Given the description of an element on the screen output the (x, y) to click on. 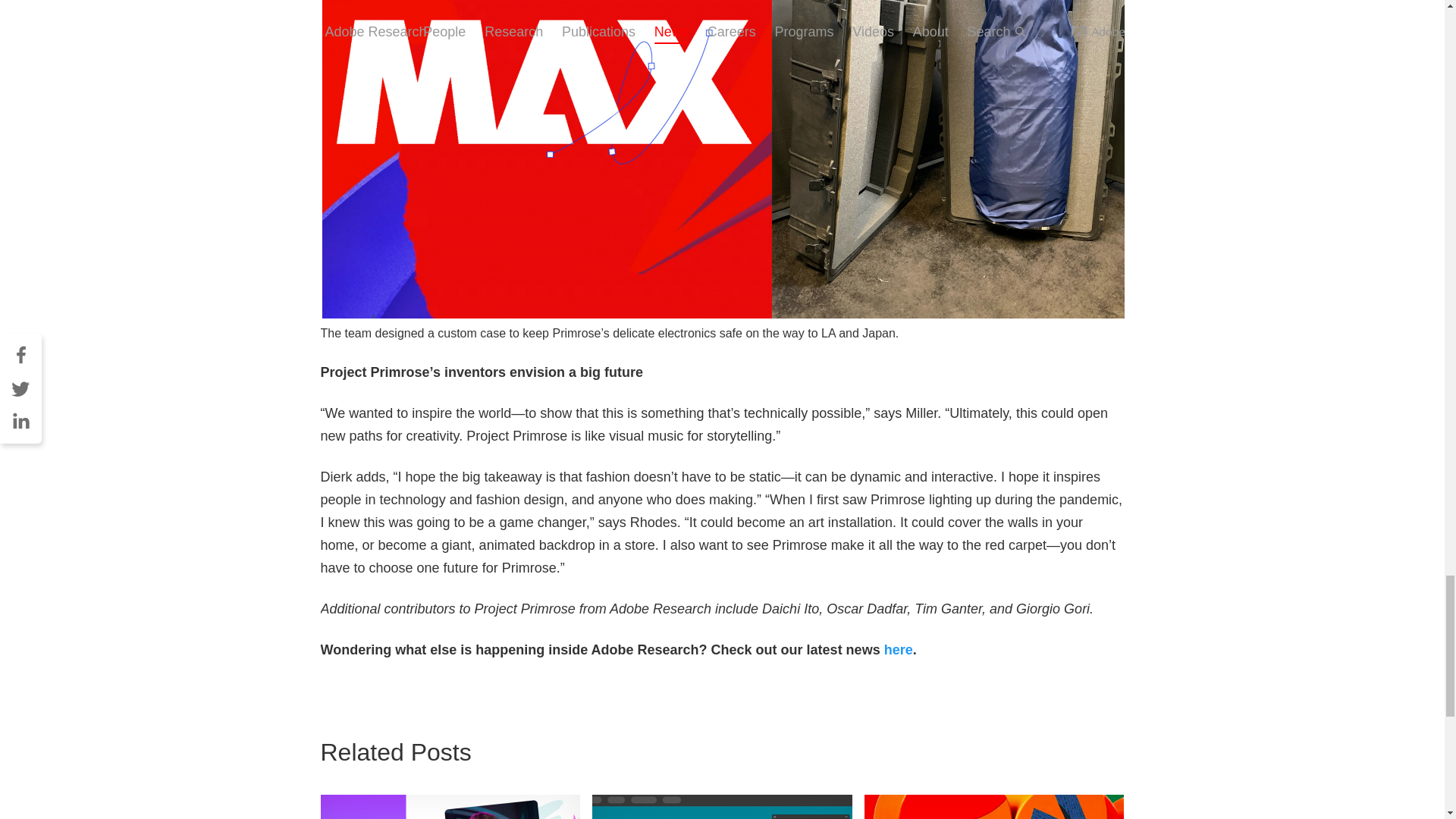
here (897, 648)
